Given the description of an element on the screen output the (x, y) to click on. 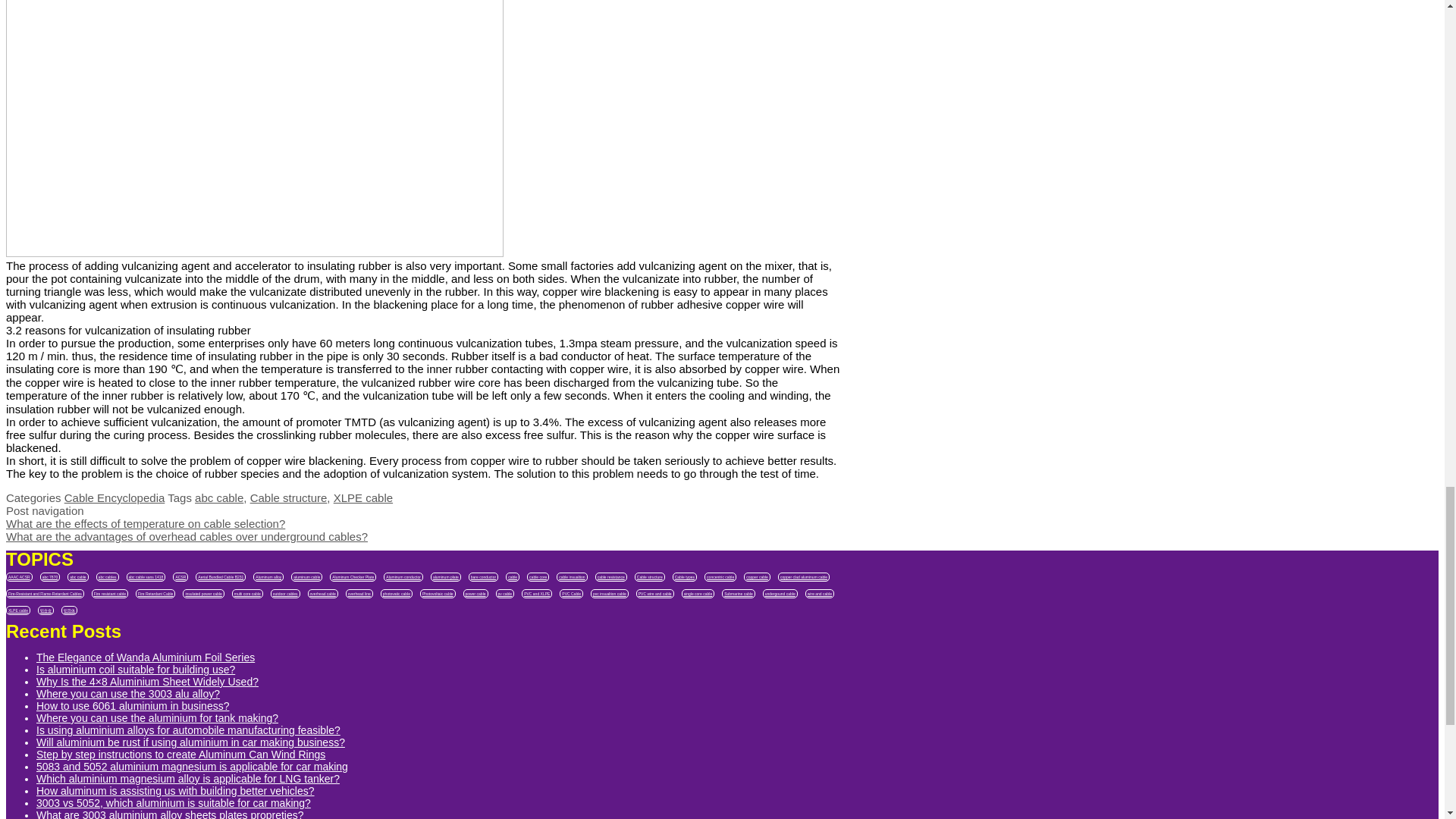
bare conductor (482, 576)
Aluminum Checker Plate (352, 576)
Aluminum conductor (403, 576)
abc cable (76, 576)
concentric cable (720, 576)
copper cable (757, 576)
Previous (145, 522)
Aerial Bundled Cable B231 (220, 576)
abc cable sans 1418 (145, 576)
XLPE cable (363, 497)
